Given the description of an element on the screen output the (x, y) to click on. 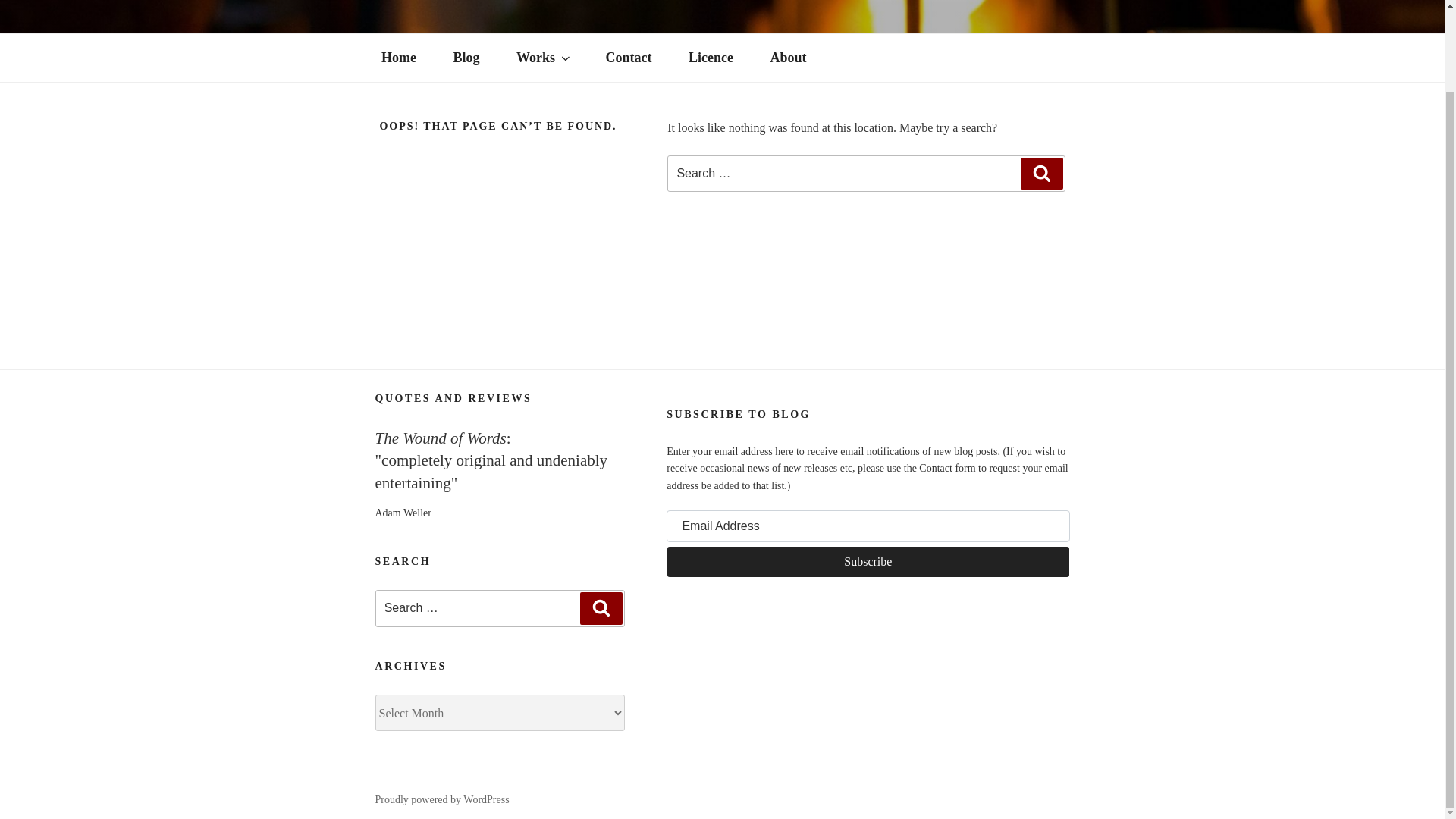
Works (542, 57)
Subscribe (867, 562)
Subscribe (867, 562)
Search (1041, 173)
Licence (711, 57)
Blog (465, 57)
About (788, 57)
Proudly powered by WordPress (441, 799)
Home (398, 57)
Contact (628, 57)
